Given the description of an element on the screen output the (x, y) to click on. 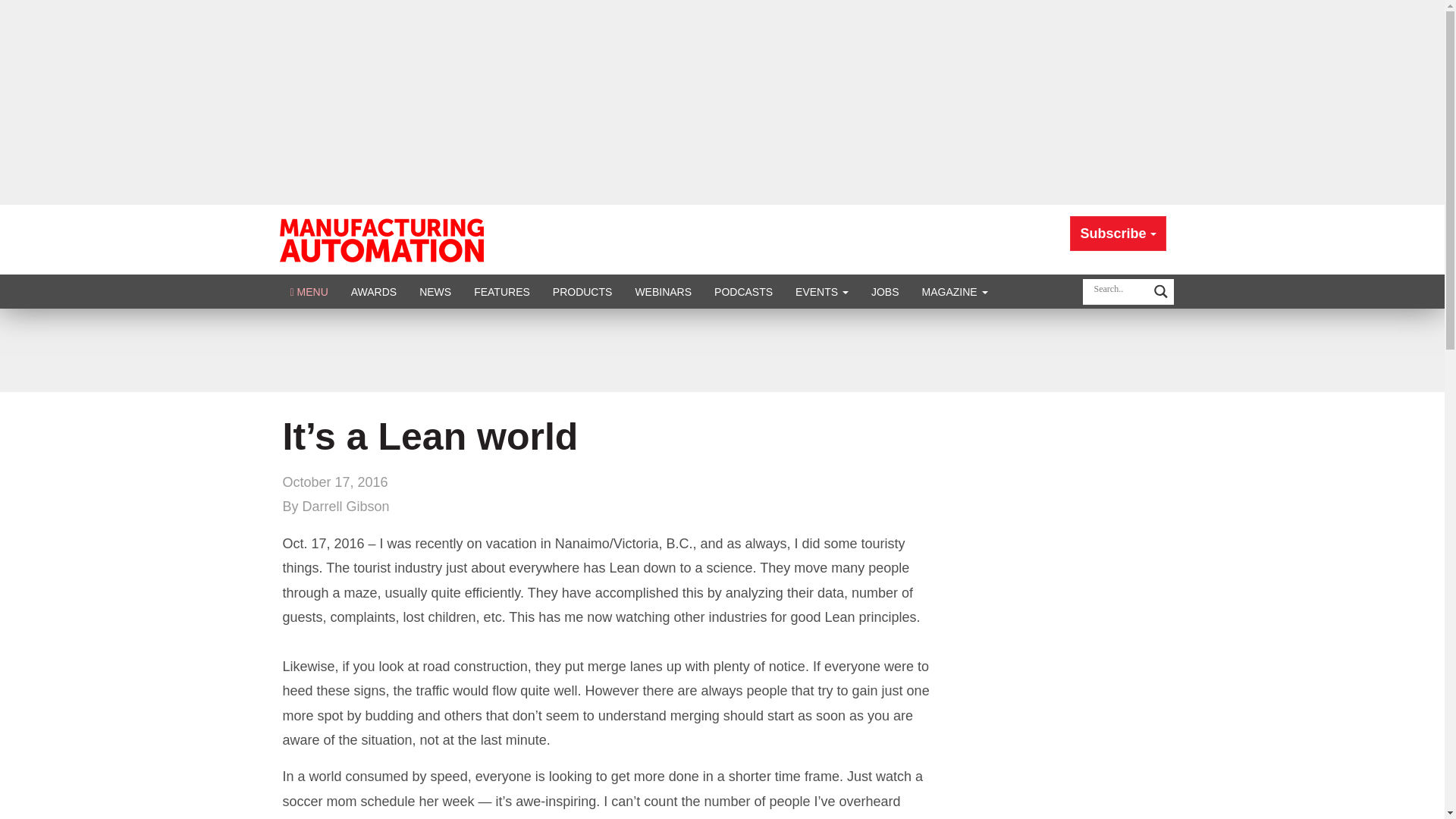
PODCASTS (743, 291)
NEWS (435, 291)
3rd party ad content (721, 350)
FEATURES (502, 291)
MAGAZINE (954, 291)
Subscribe (1118, 233)
JOBS (885, 291)
EVENTS (822, 291)
Click to show site navigation (309, 291)
